Given the description of an element on the screen output the (x, y) to click on. 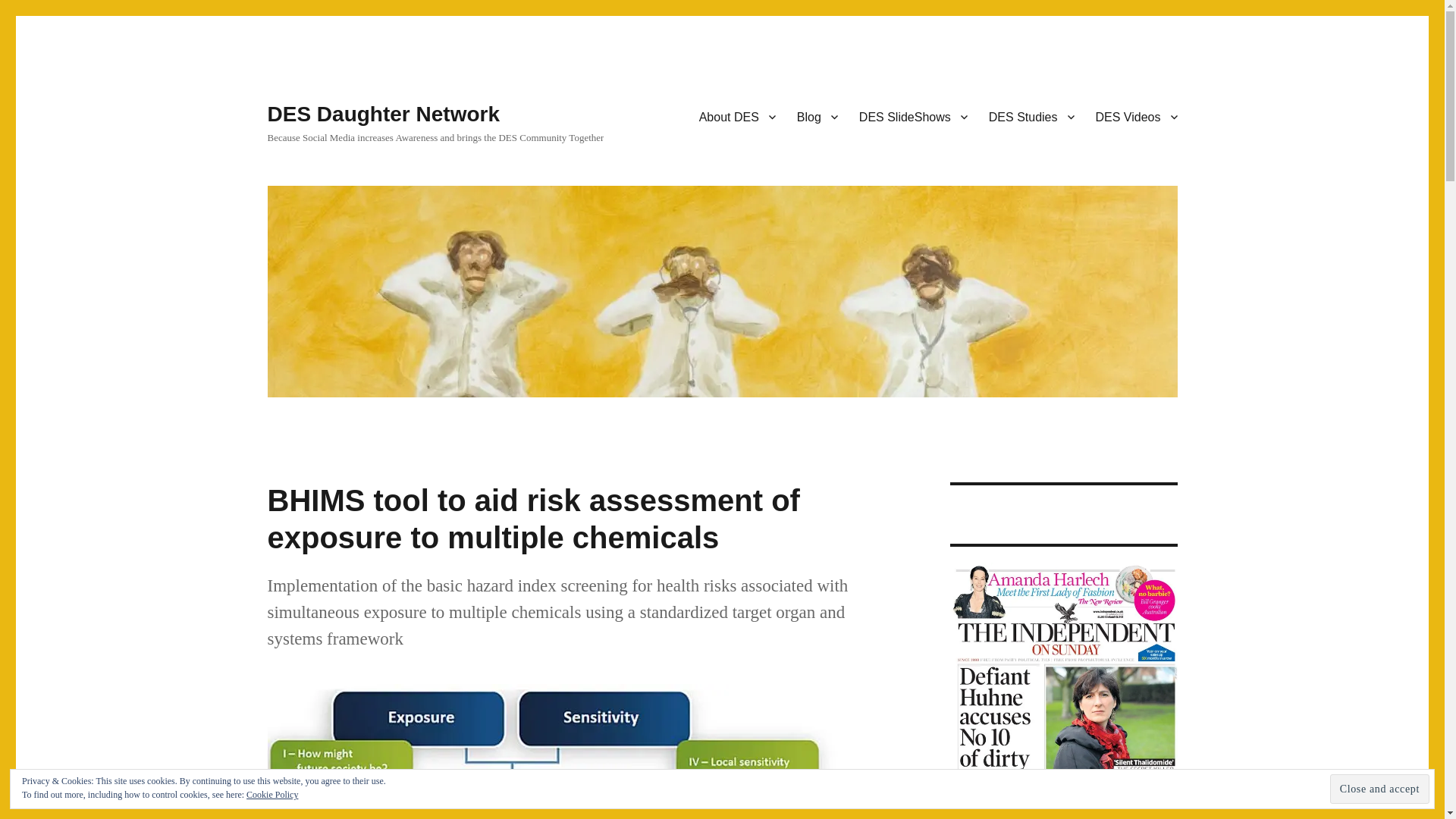
Blog (817, 116)
About DES (737, 116)
DES Studies (1031, 116)
All posts (817, 116)
DES Daughter Network (382, 114)
Close and accept (1379, 788)
DES Videos (1136, 116)
DES SlideShows (913, 116)
